Given the description of an element on the screen output the (x, y) to click on. 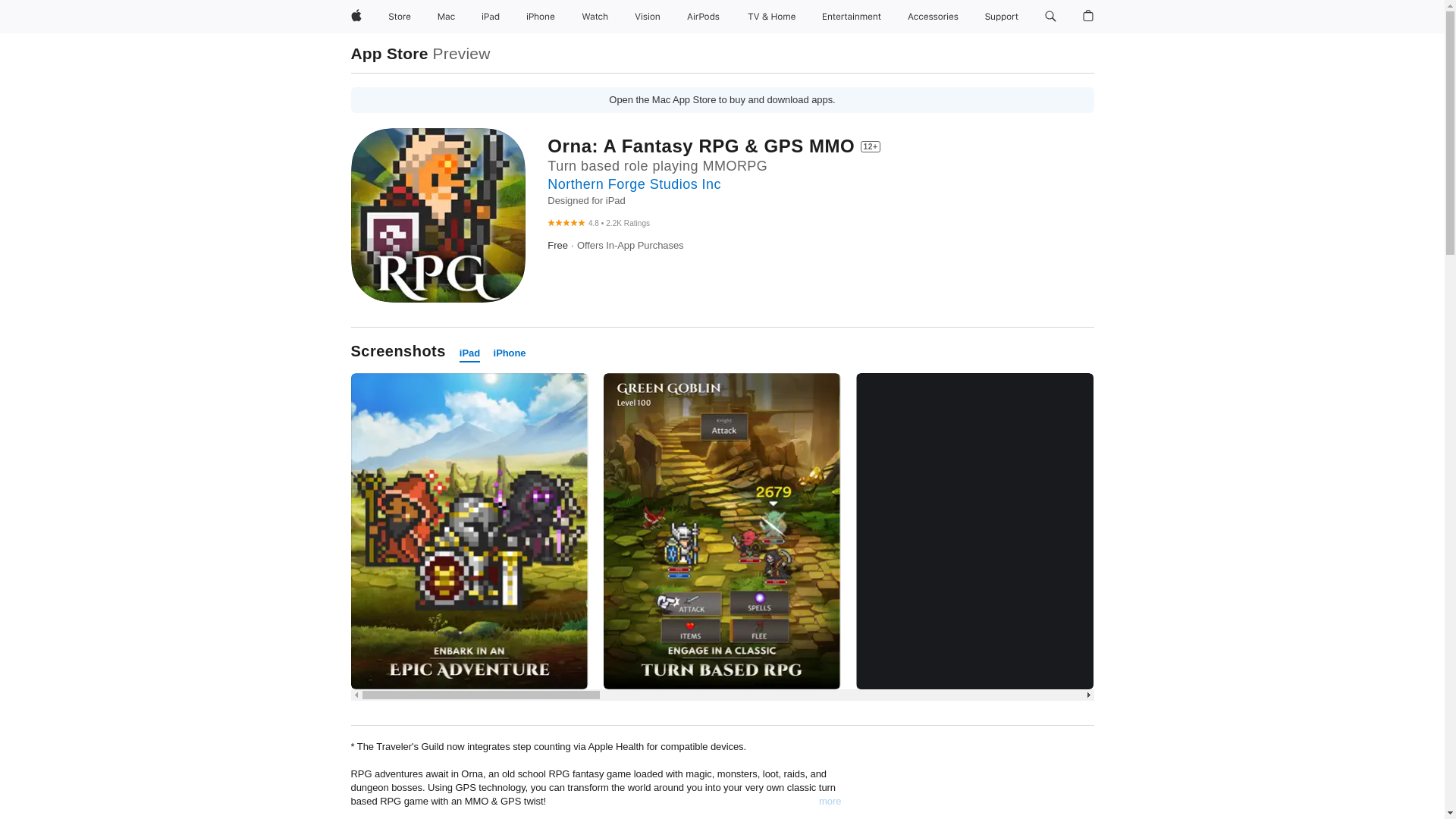
Vision (647, 16)
Watch (594, 16)
AirPods (703, 16)
more (829, 801)
Northern Forge Studios Inc (633, 183)
App Store (389, 53)
iPad (490, 16)
iPhone (509, 353)
iPad (470, 353)
Accessories (932, 16)
Store (398, 16)
Support (1001, 16)
iPhone (539, 16)
Entertainment (851, 16)
